Given the description of an element on the screen output the (x, y) to click on. 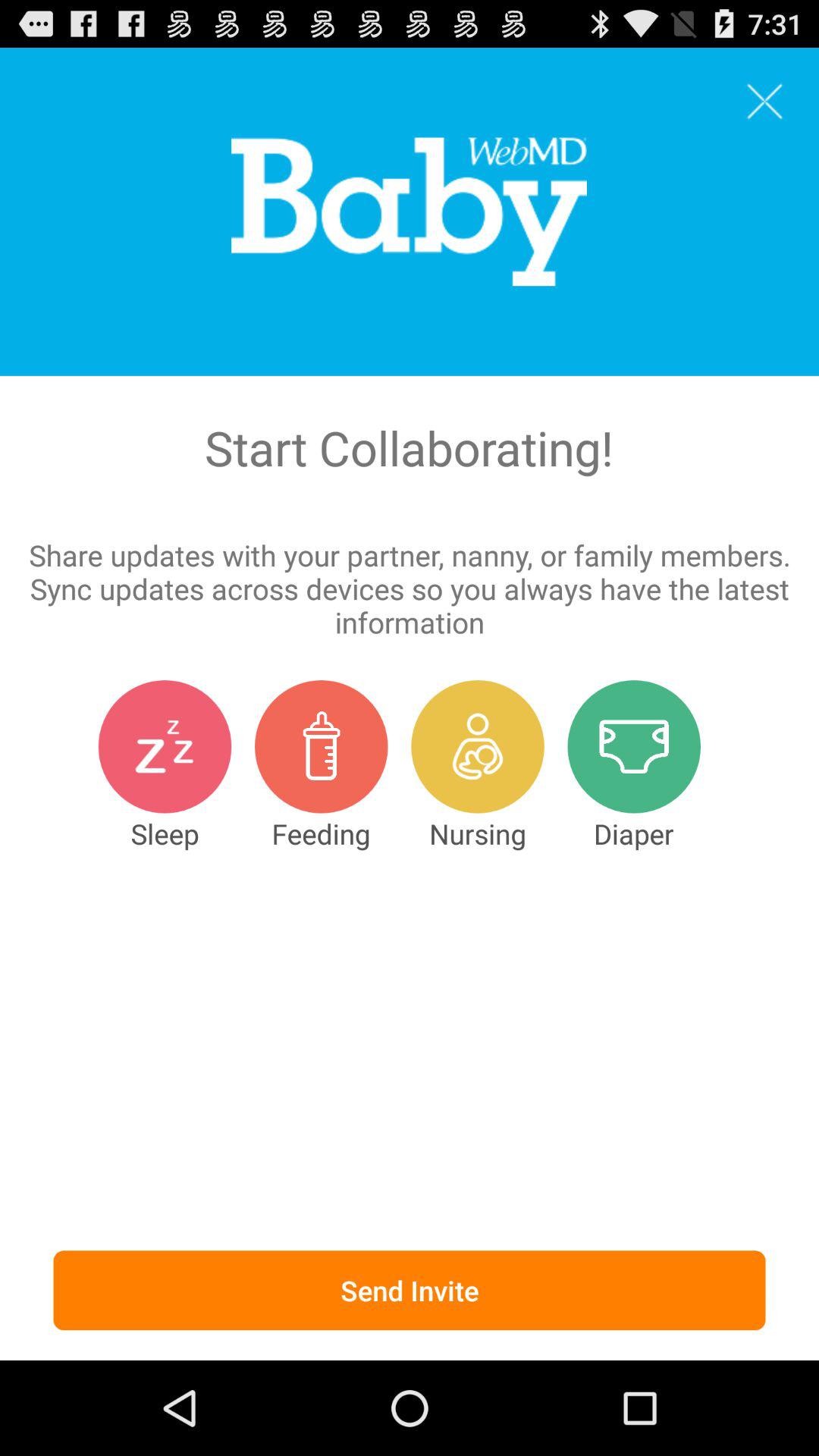
click send invite at the bottom (409, 1290)
